Given the description of an element on the screen output the (x, y) to click on. 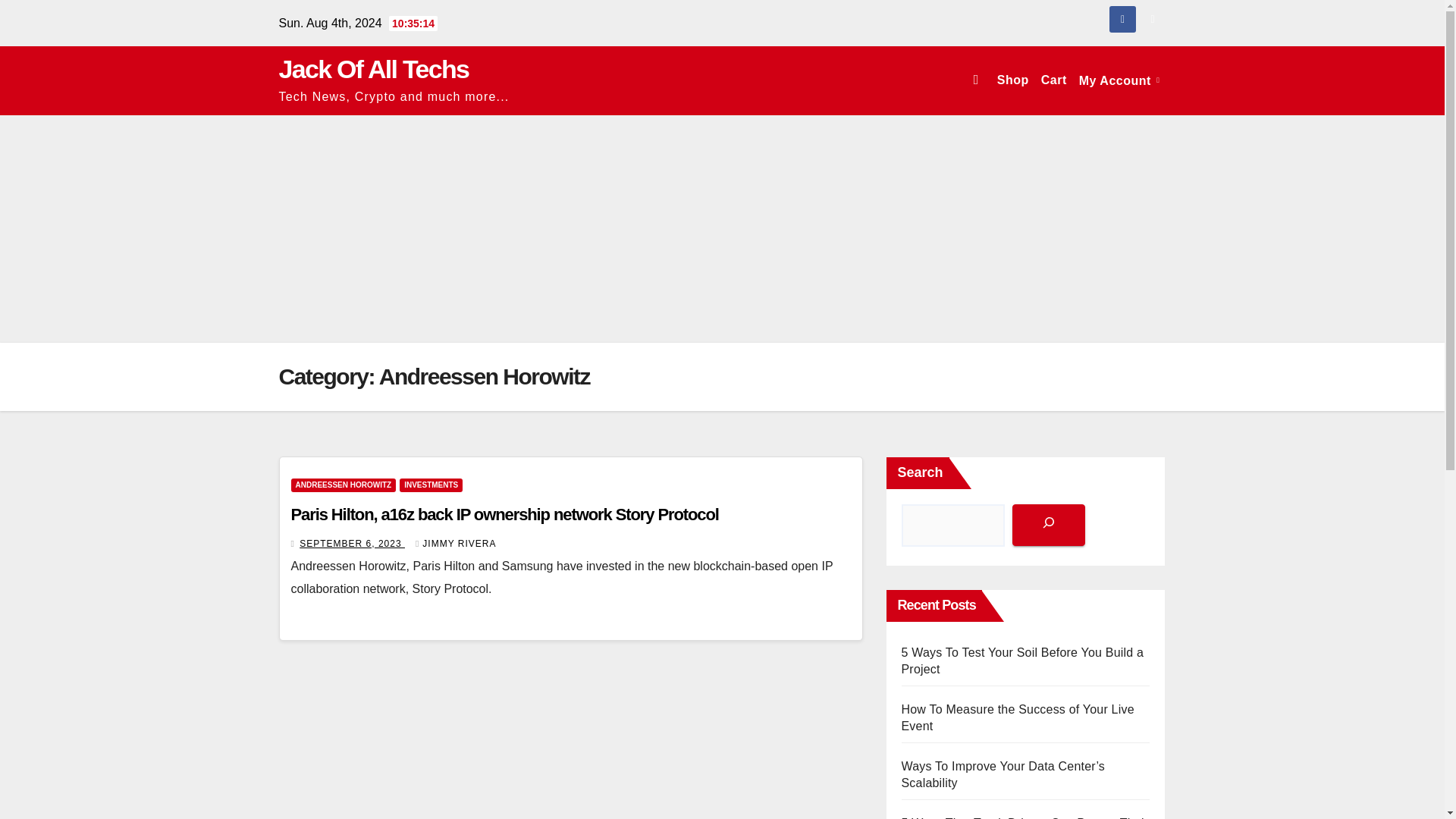
INVESTMENTS (430, 485)
Certifications Anyone Can Take for Career Advancement (1017, 774)
Paris Hilton, a16z back IP ownership network Story Protocol (505, 514)
SEPTEMBER 6, 2023 (351, 543)
Jack Of All Techs (373, 68)
JIMMY RIVERA (455, 543)
ANDREESSEN HOROWITZ (343, 485)
My account (1119, 80)
5 Ways That Truck Drivers Can Protect Their Loads (1024, 717)
My Account (1119, 80)
